Given the description of an element on the screen output the (x, y) to click on. 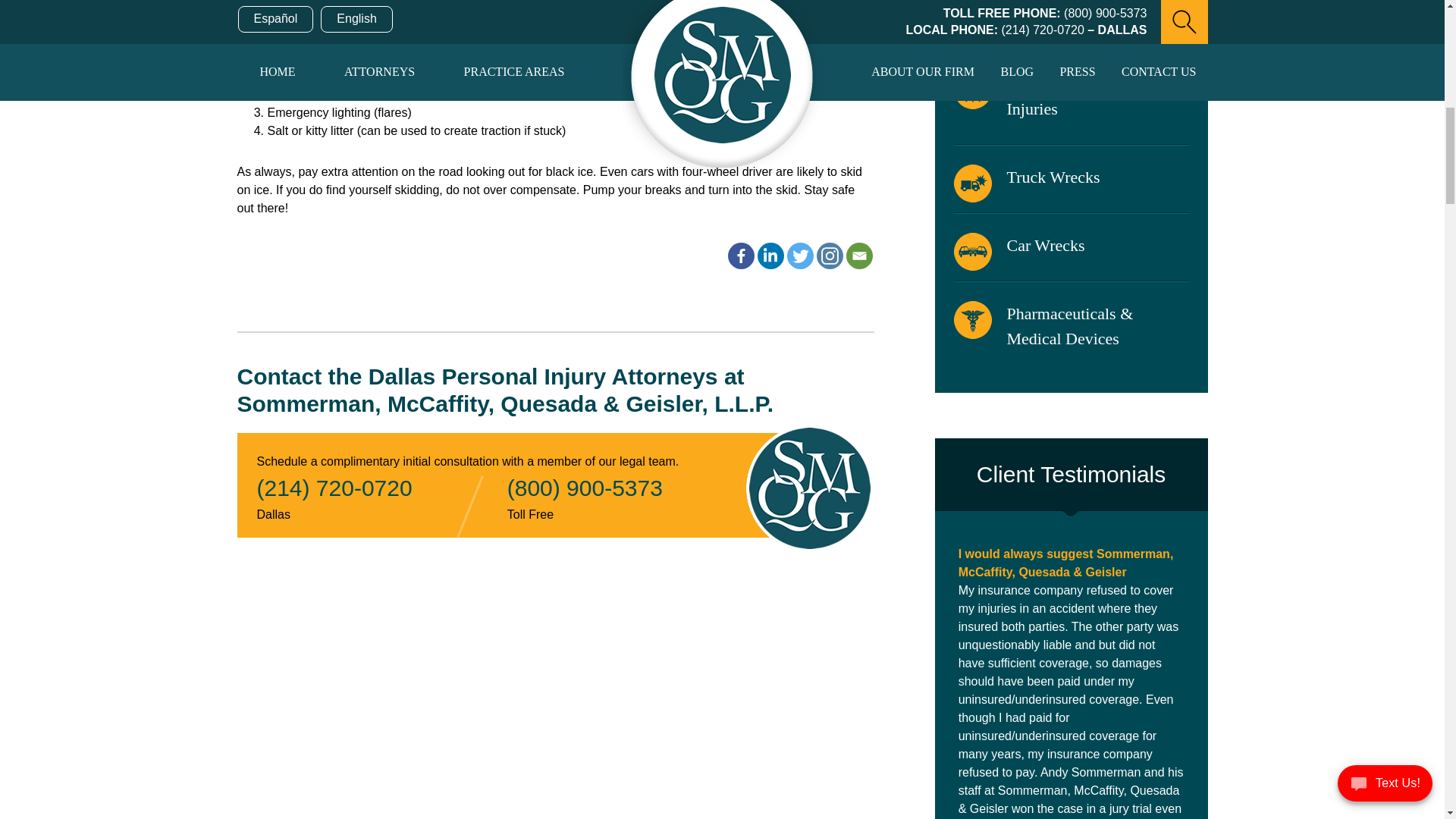
Email (858, 255)
Linkedin (770, 255)
Instagram (829, 255)
Twitter (800, 255)
Facebook (741, 255)
